Given the description of an element on the screen output the (x, y) to click on. 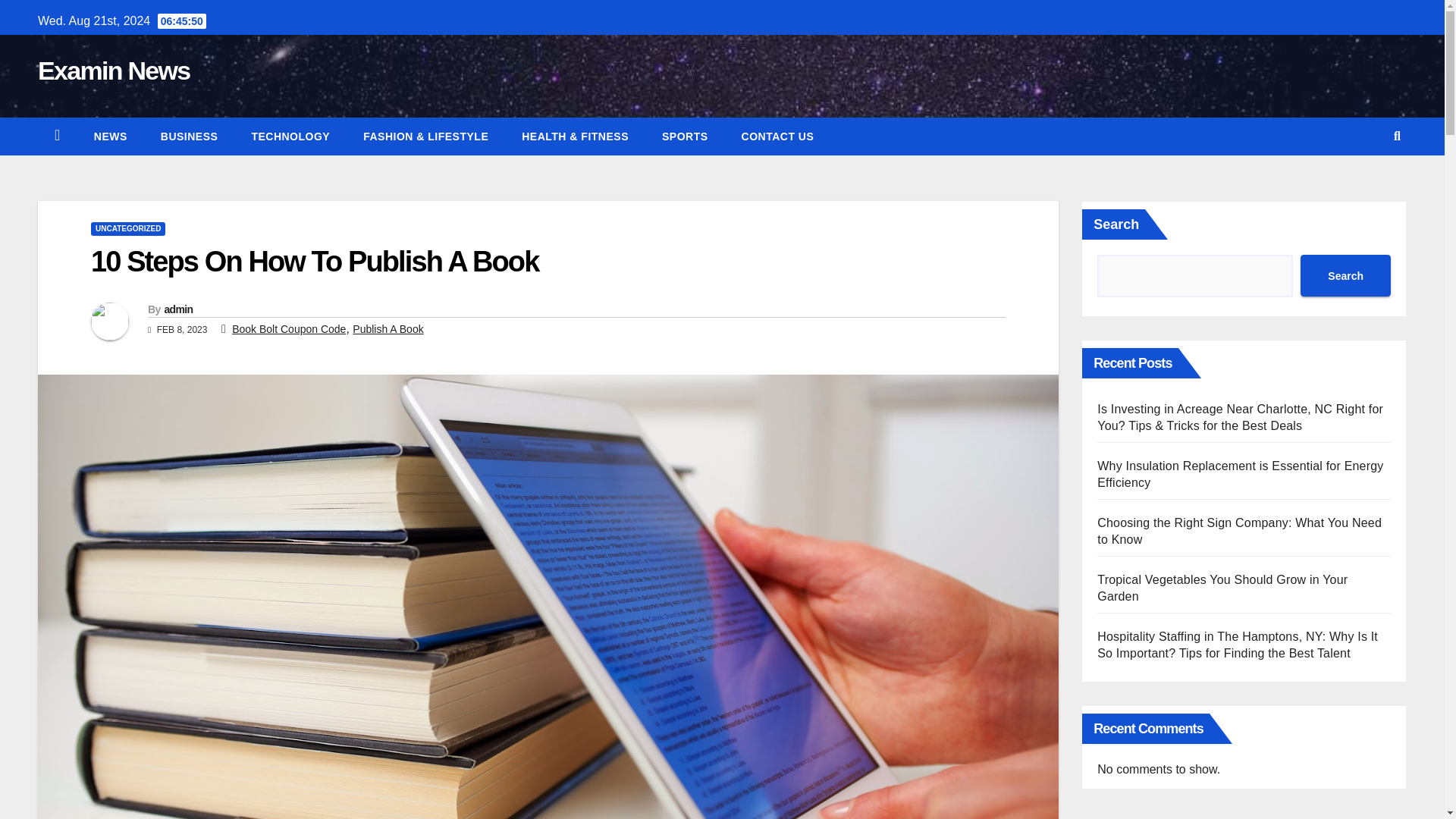
UNCATEGORIZED (127, 228)
admin (177, 309)
CONTACT US (778, 136)
Publish A Book (387, 328)
Business (189, 136)
News (110, 136)
CONTACT US (778, 136)
TECHNOLOGY (290, 136)
BUSINESS (189, 136)
Book Bolt Coupon Code (288, 328)
